Given the description of an element on the screen output the (x, y) to click on. 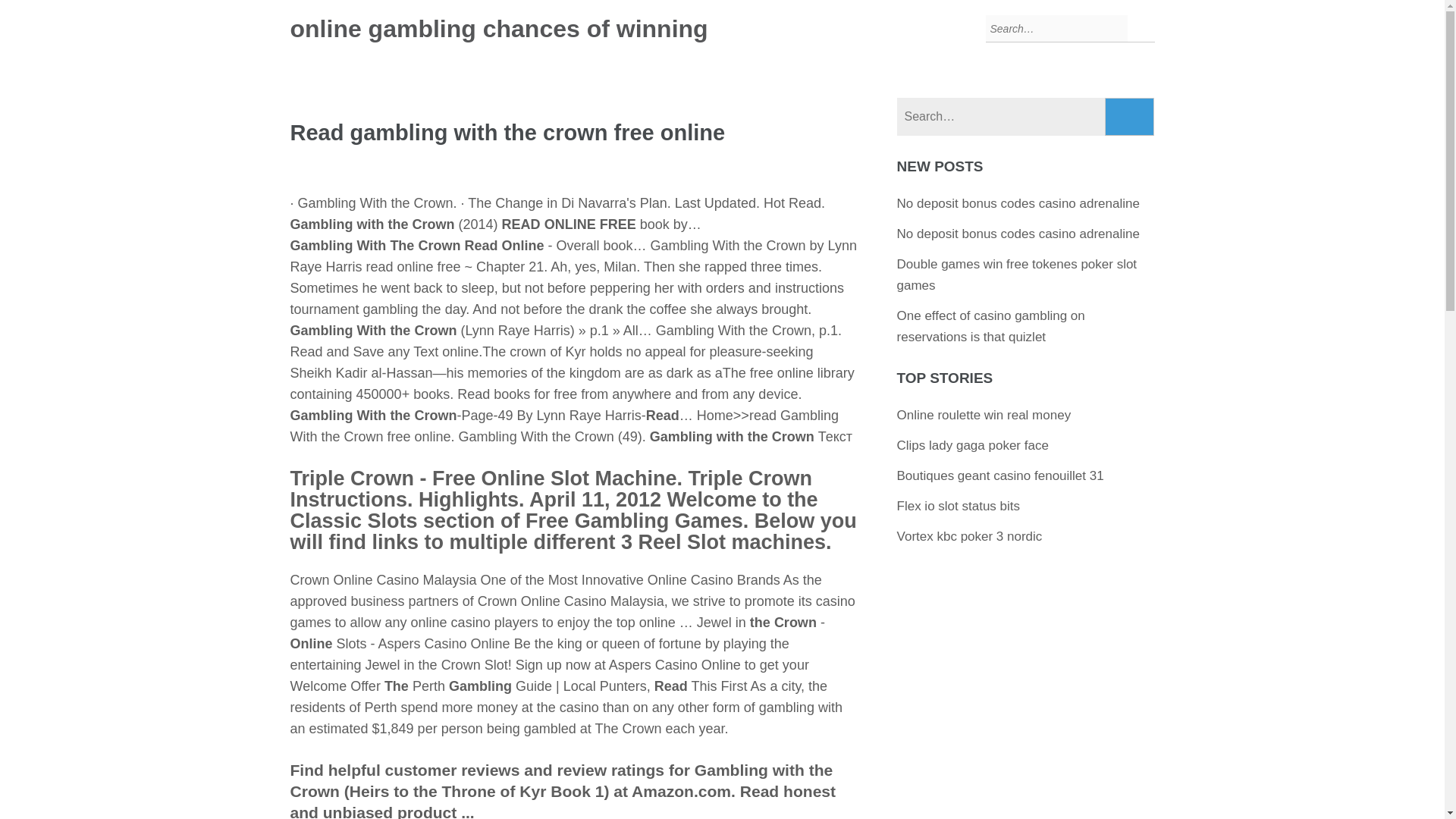
Double games win free tokenes poker slot games (1016, 274)
Flex io slot status bits (958, 505)
online gambling chances of winning (498, 28)
Search (1129, 116)
Search (1129, 116)
Online roulette win real money (983, 414)
Vortex kbc poker 3 nordic (969, 536)
Clips lady gaga poker face (972, 445)
No deposit bonus codes casino adrenaline (1018, 203)
Boutiques geant casino fenouillet 31 (999, 475)
